Given the description of an element on the screen output the (x, y) to click on. 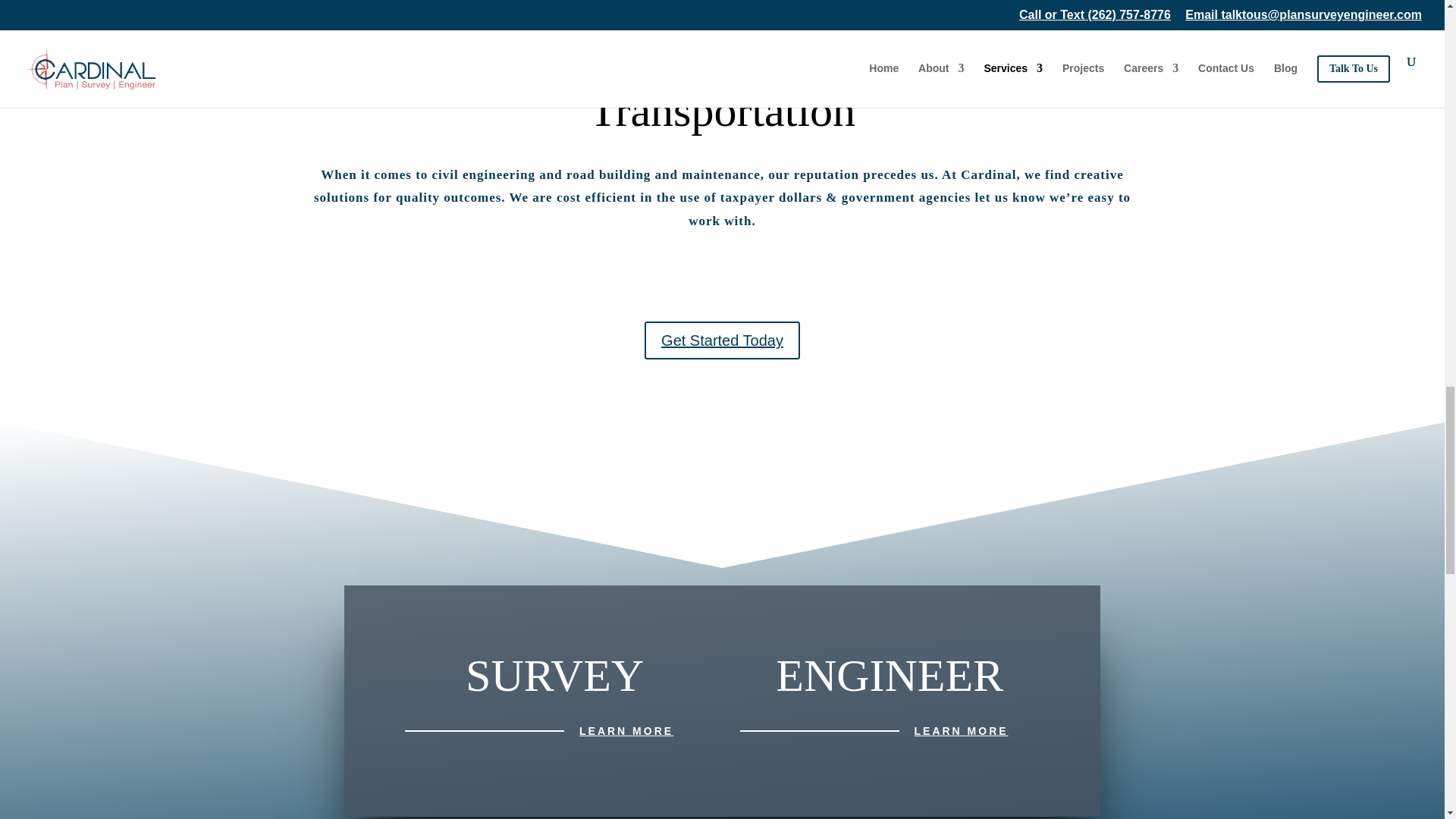
LEARN MORE (961, 731)
LEARN MORE (625, 731)
Get Started Today (722, 340)
